Given the description of an element on the screen output the (x, y) to click on. 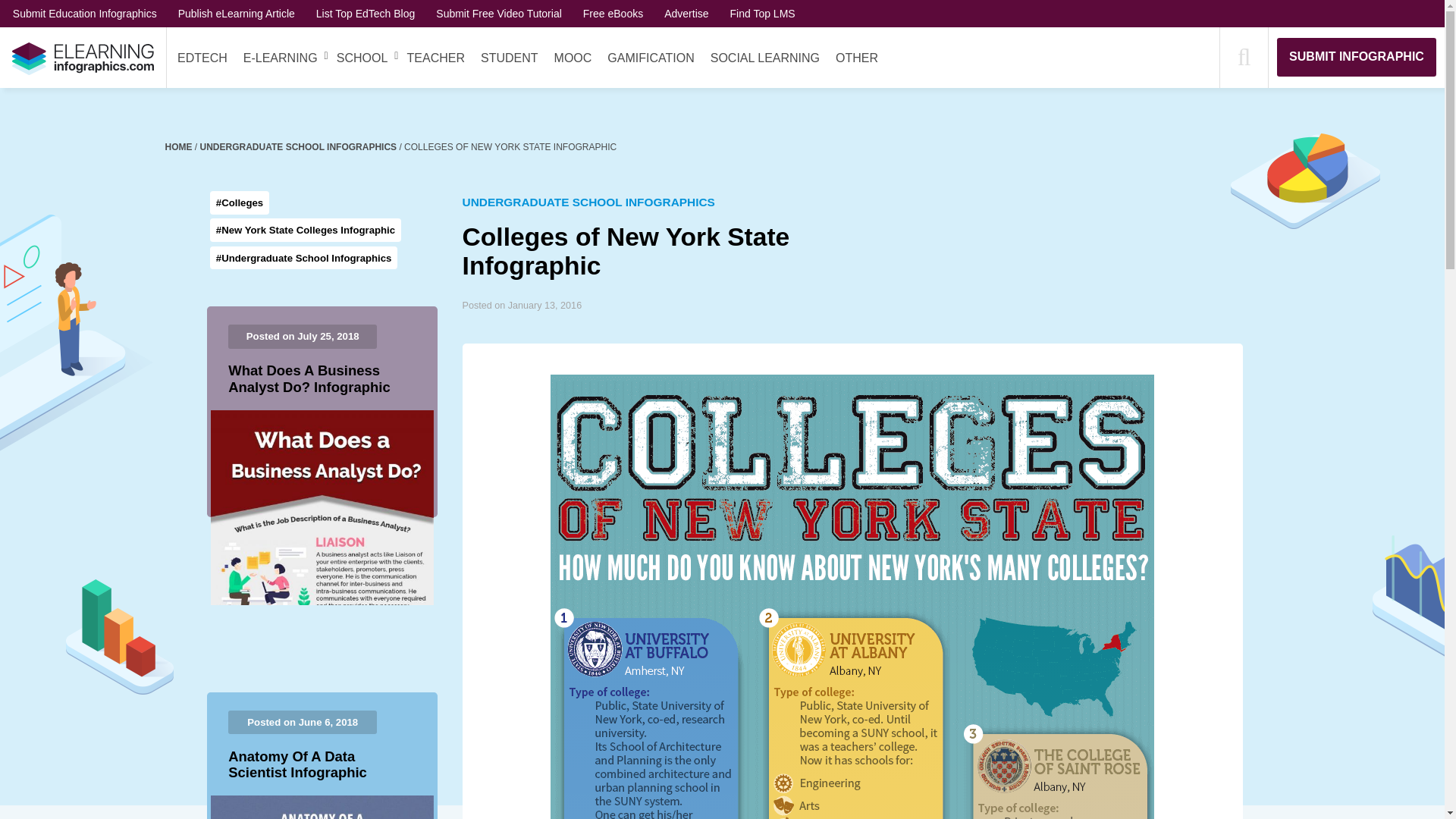
Gamification Infographics (650, 58)
Teacher Infographics (435, 58)
Advertise (685, 13)
Submit Free Video Tutorial (498, 13)
STUDENT (509, 58)
Student Infographics (509, 58)
Publish eLearning Article (236, 13)
Find Top LMS (762, 13)
SOCIAL LEARNING (764, 58)
Free eBooks (613, 13)
GAMIFICATION (650, 58)
E-LEARNING (280, 58)
TEACHER (435, 58)
HOME (180, 146)
Submit Education Infographics (85, 13)
